Given the description of an element on the screen output the (x, y) to click on. 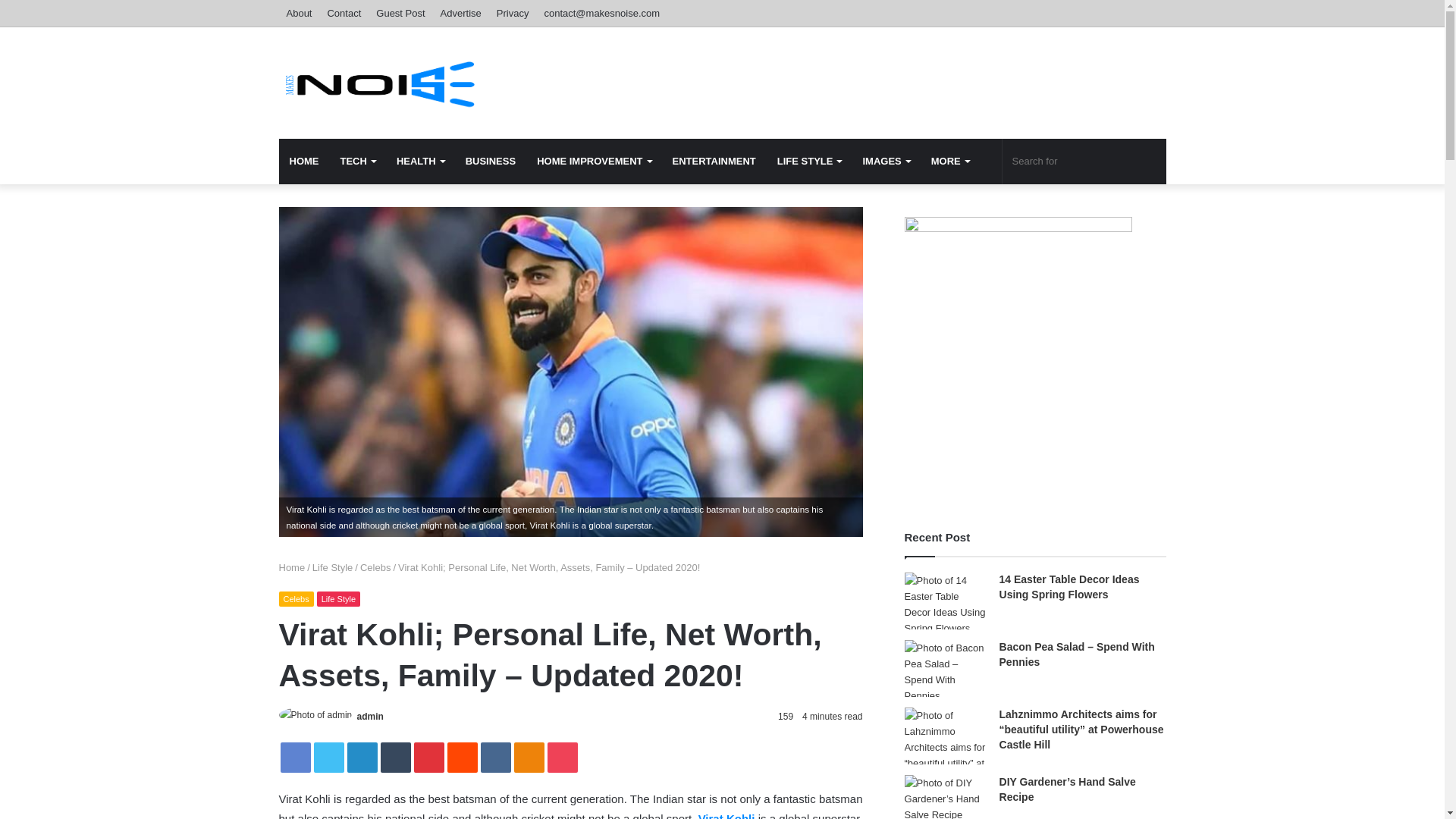
About (299, 13)
Guest Post (400, 13)
HEALTH (419, 161)
LIFE STYLE (809, 161)
HOME (304, 161)
Make Noise (383, 82)
HOME IMPROVEMENT (593, 161)
Contact (343, 13)
admin (370, 716)
Advertise (460, 13)
